Given the description of an element on the screen output the (x, y) to click on. 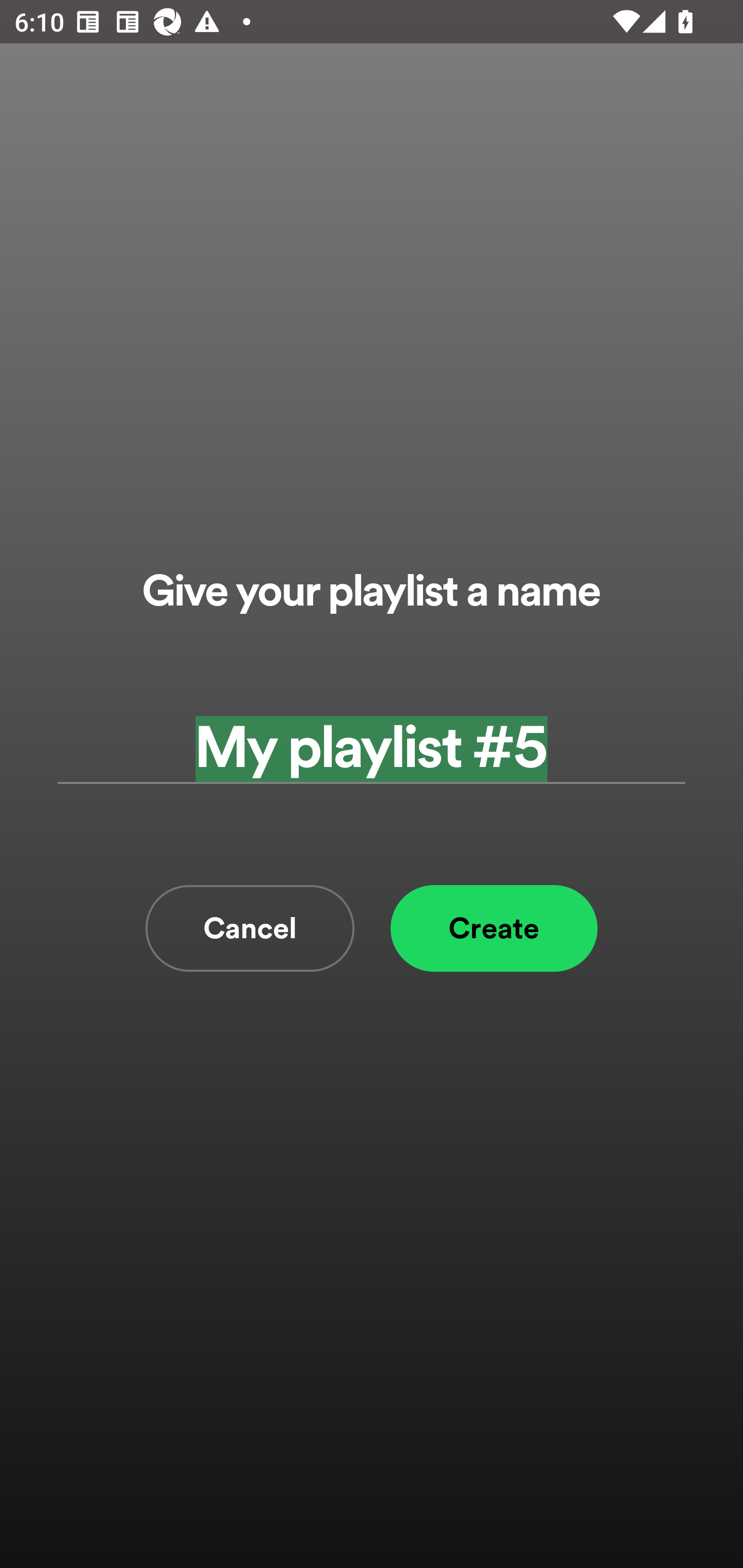
My playlist #5 Add a playlist name (371, 749)
Cancel (249, 928)
Create (493, 928)
